Given the description of an element on the screen output the (x, y) to click on. 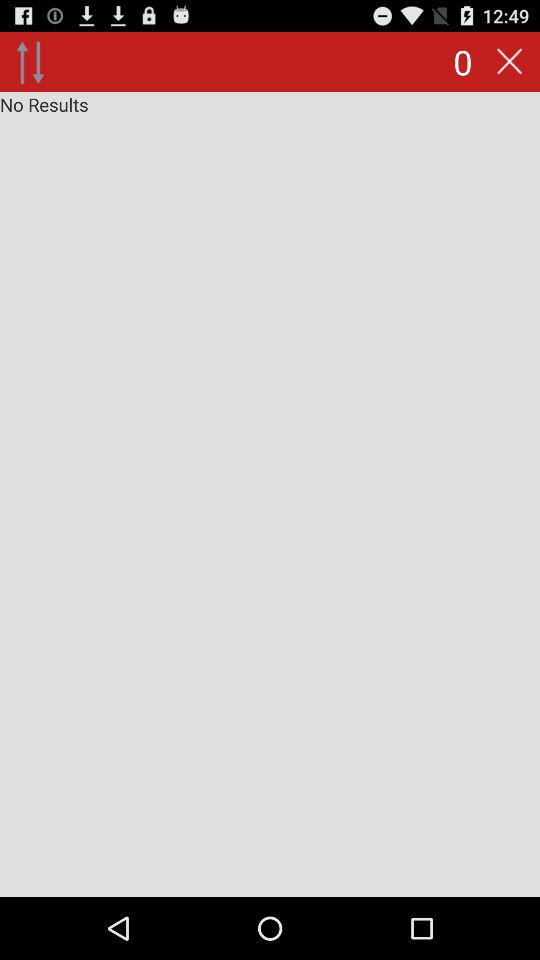
select screen (270, 494)
